Given the description of an element on the screen output the (x, y) to click on. 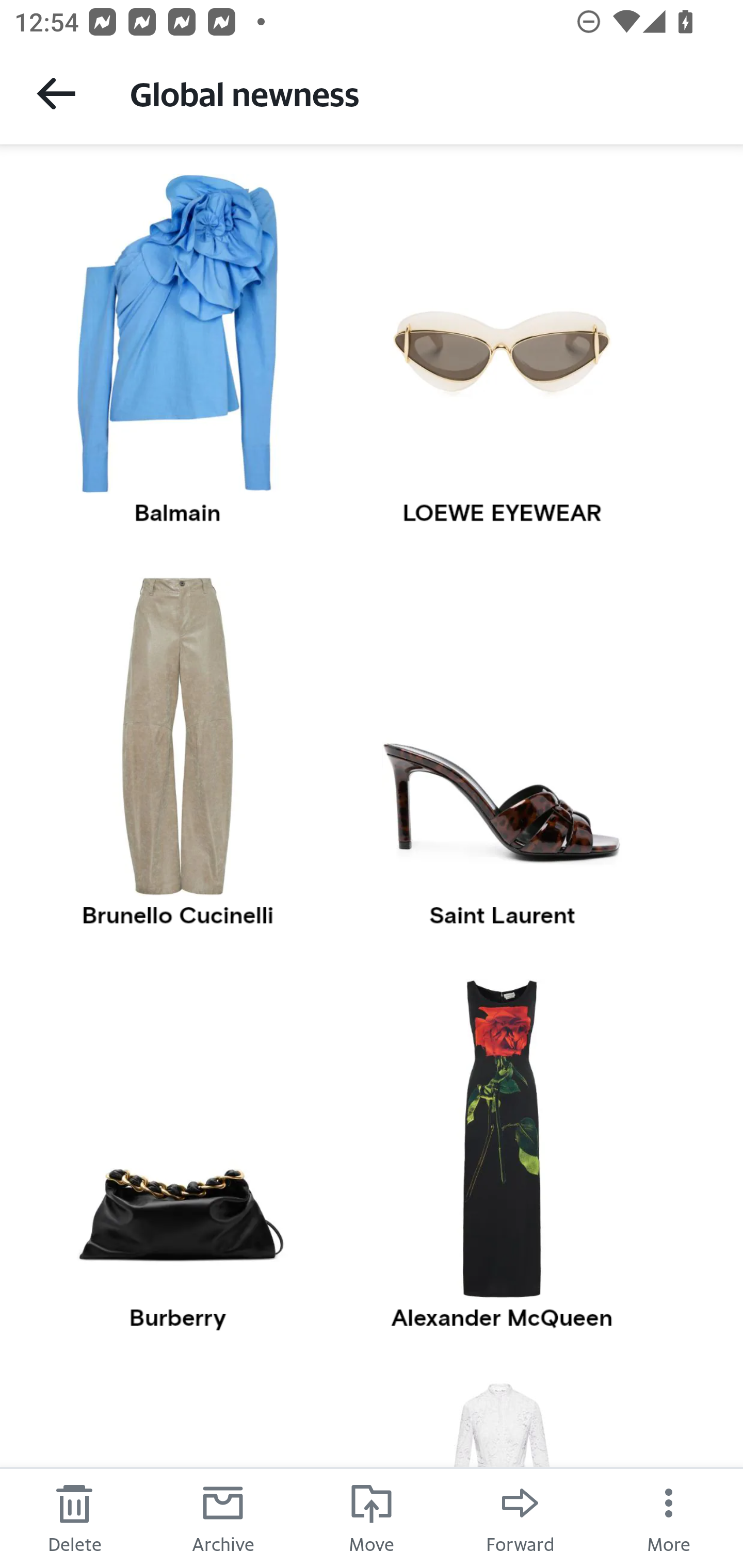
Back (55, 92)
product grid image (177, 332)
product grid image (502, 332)
product grid brand (177, 512)
product grid brand (502, 512)
product grid image (177, 735)
product grid image (502, 735)
product grid brand (177, 915)
product grid brand (502, 915)
product grid image (177, 1138)
product grid image (502, 1138)
product grid brand (177, 1318)
product grid brand (502, 1318)
Delete (74, 1517)
Archive (222, 1517)
Move (371, 1517)
Forward (519, 1517)
More (668, 1517)
